Given the description of an element on the screen output the (x, y) to click on. 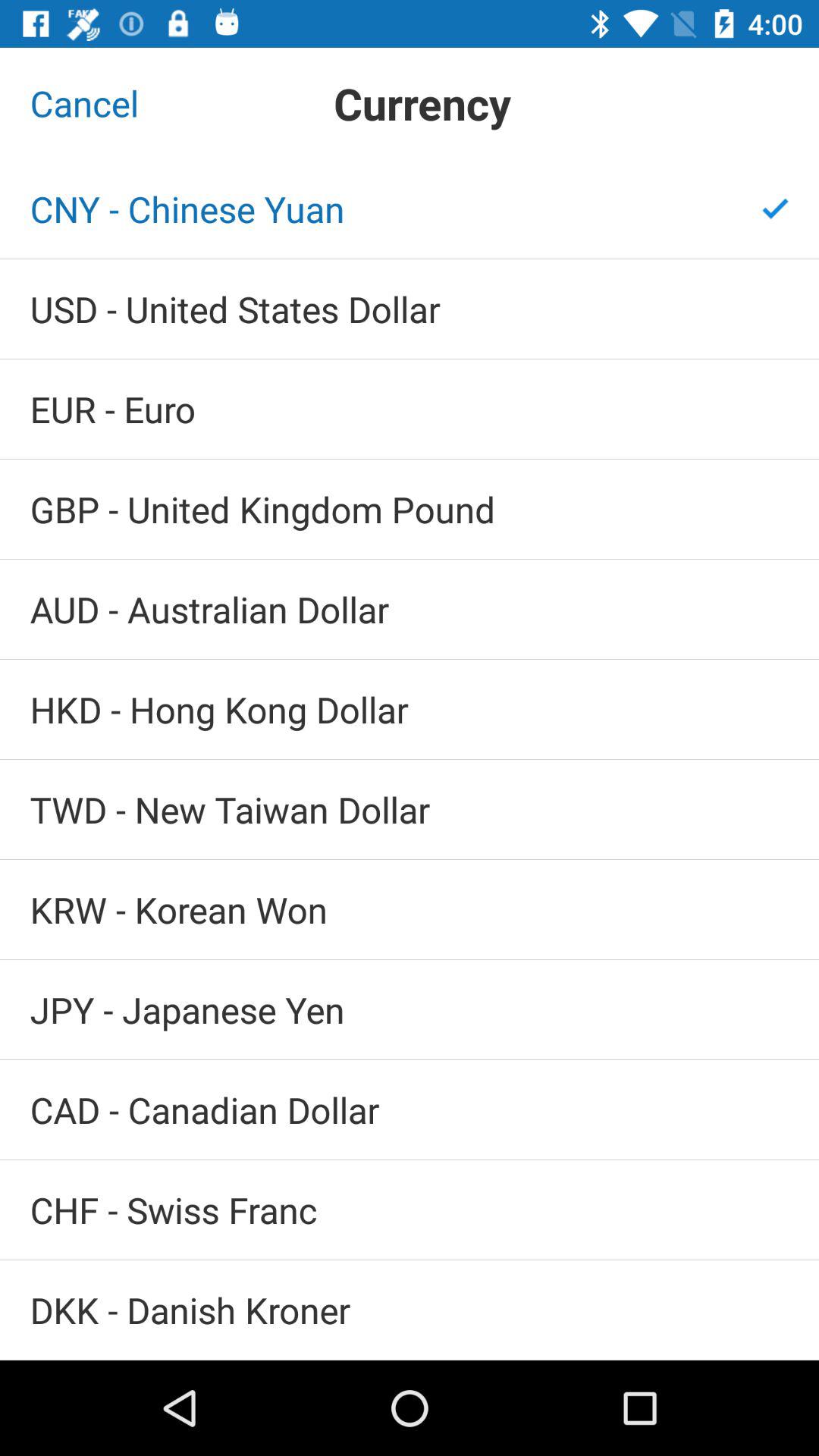
swipe until the cancel item (84, 103)
